Given the description of an element on the screen output the (x, y) to click on. 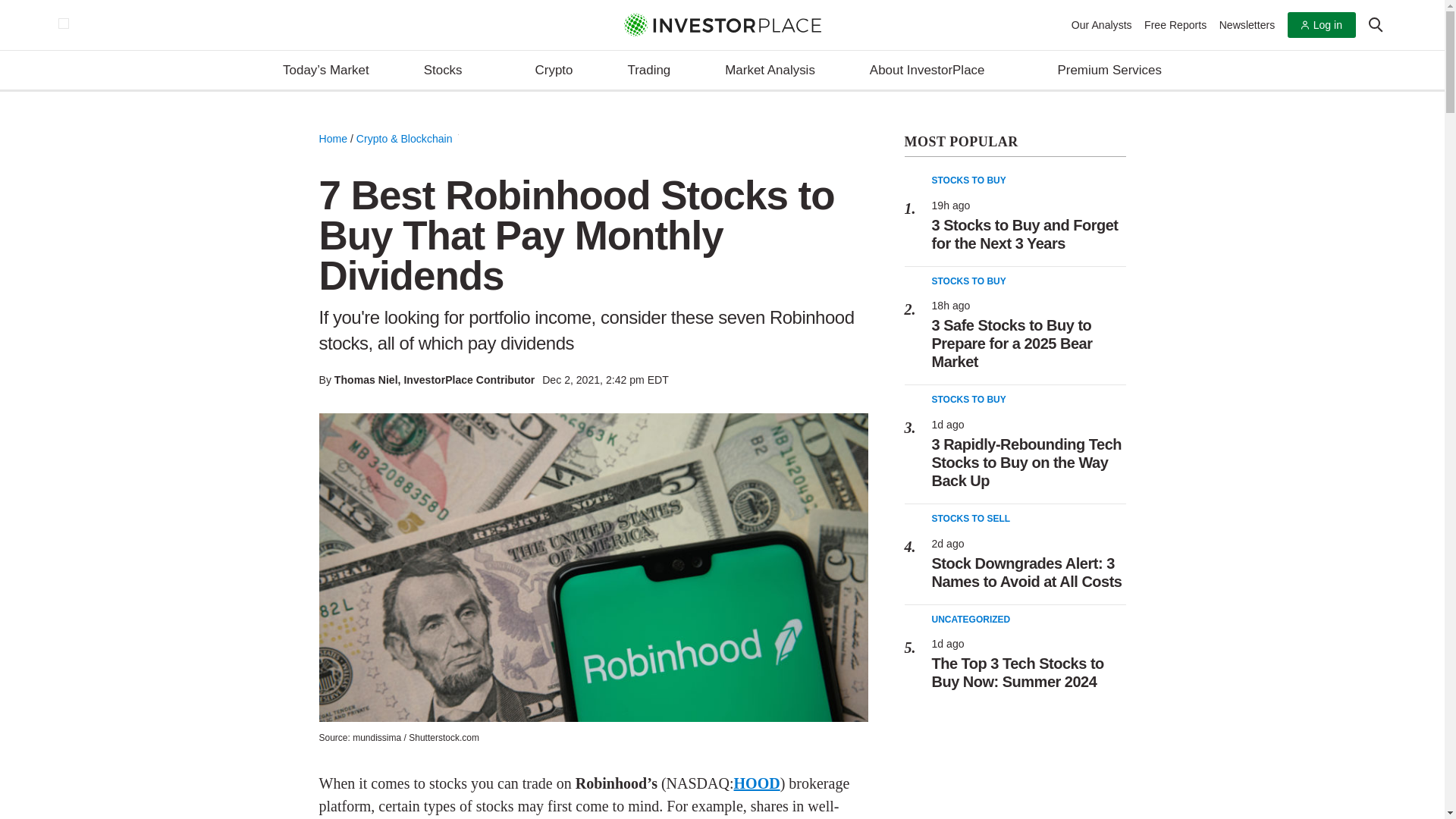
Our Analysts (1101, 24)
Free Reports (1175, 24)
Newsletters (1247, 24)
View profile of Thomas Niel (365, 379)
Stocks (452, 70)
Log in (1321, 25)
View Most Read Content (1014, 142)
